Given the description of an element on the screen output the (x, y) to click on. 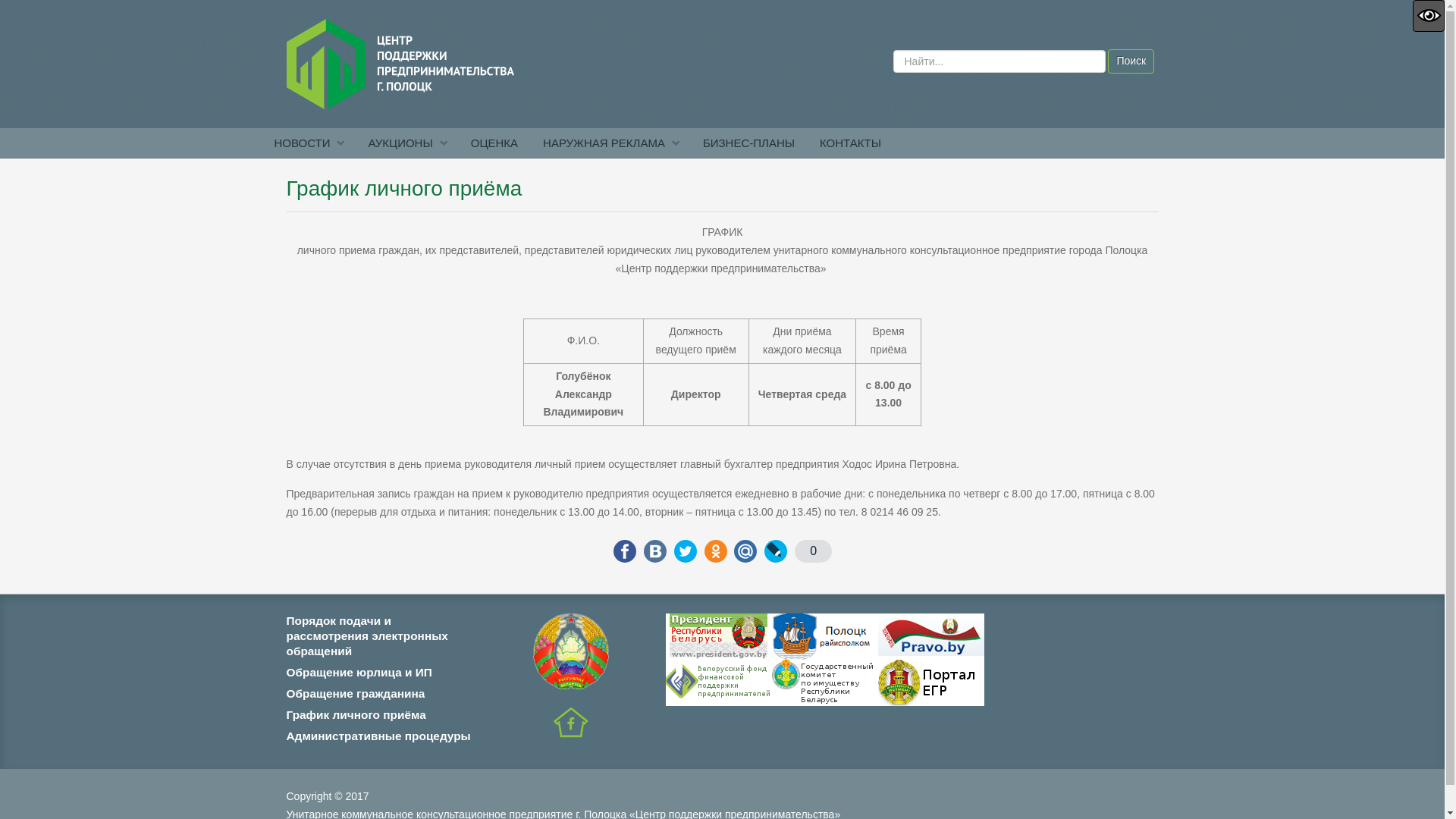
LiveJournal Element type: hover (775, 550)
Twitter Element type: hover (685, 550)
FaceBook Element type: hover (624, 550)
0 Element type: text (812, 550)
